Given the description of an element on the screen output the (x, y) to click on. 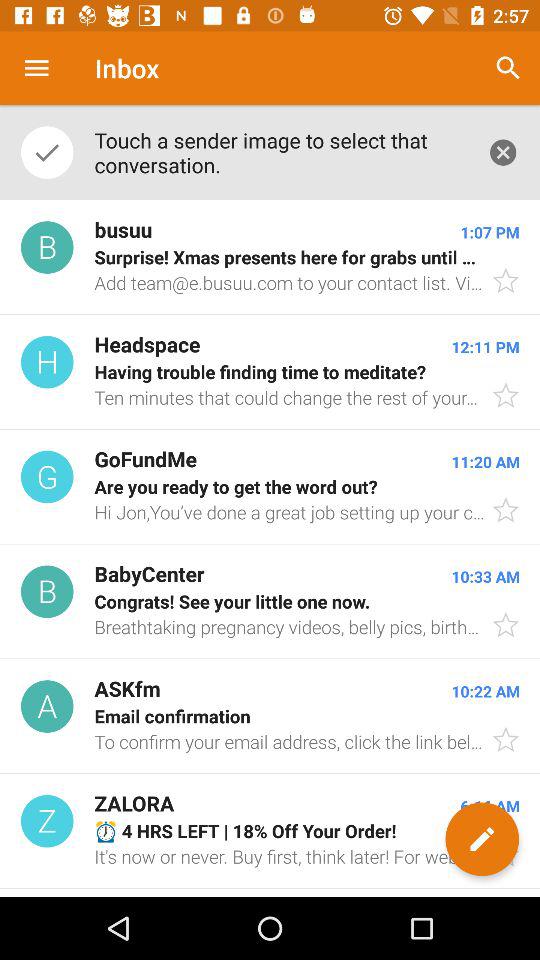
scroll to touch a sender item (280, 152)
